Given the description of an element on the screen output the (x, y) to click on. 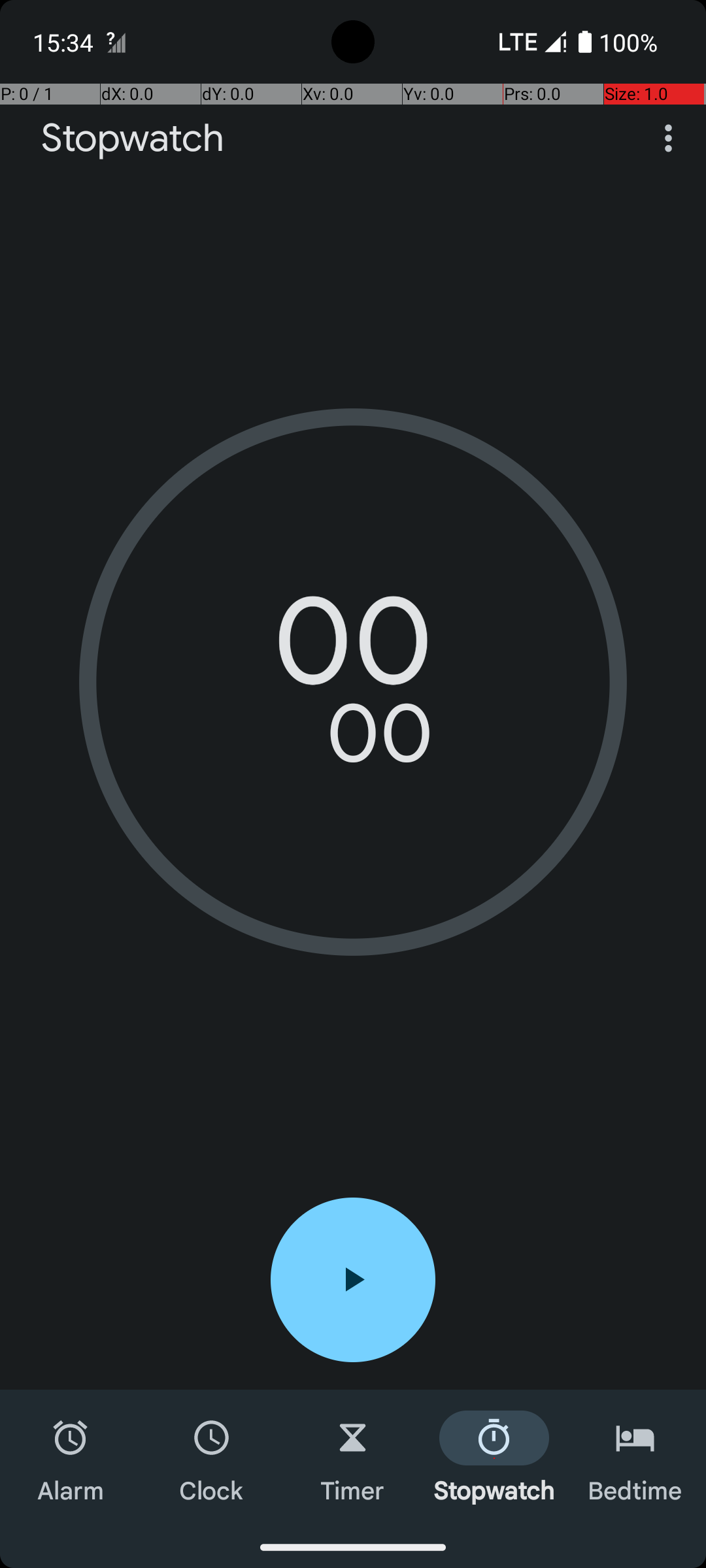
Android System notification: Sign in to network Element type: android.widget.ImageView (115, 41)
